Given the description of an element on the screen output the (x, y) to click on. 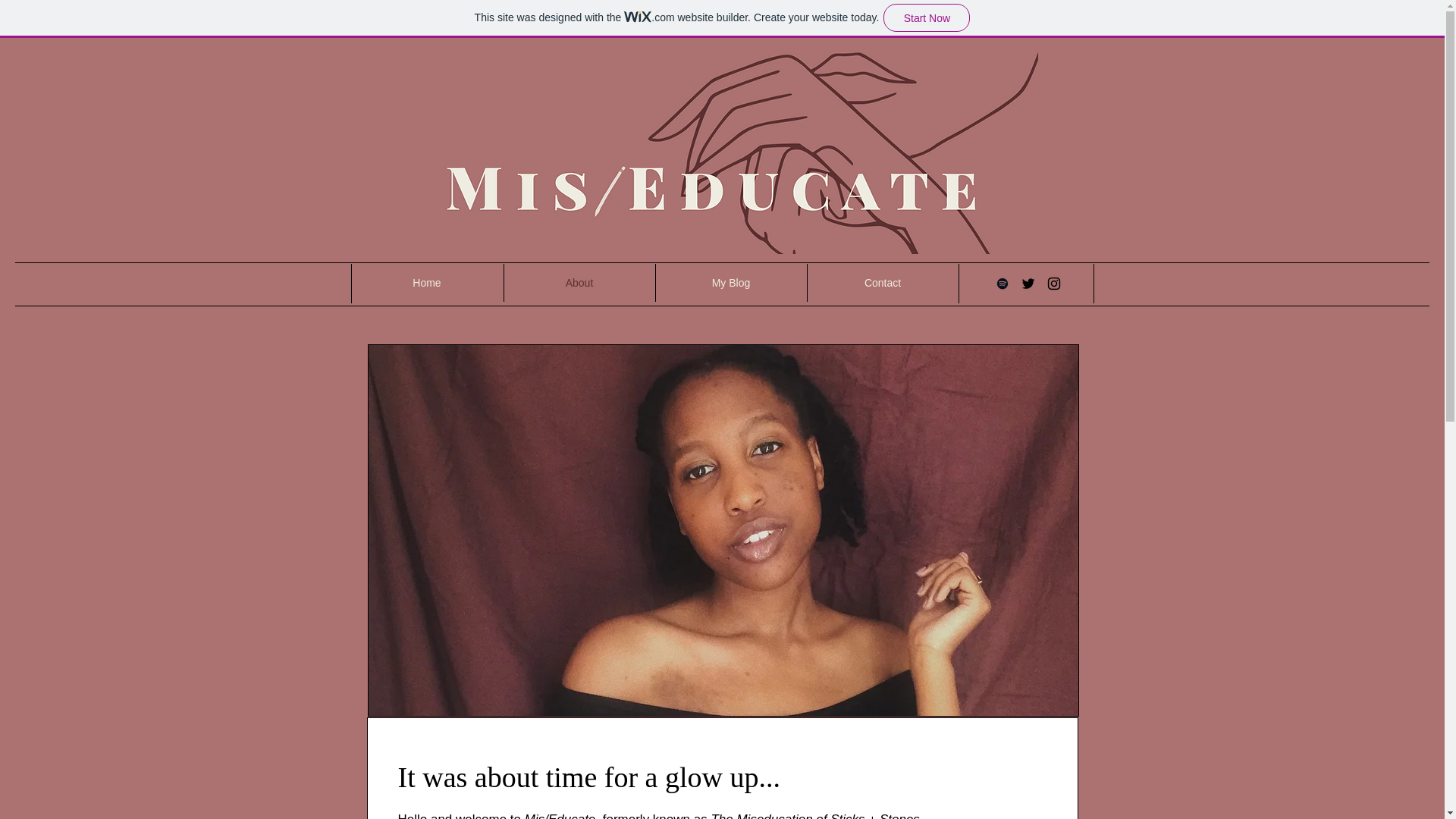
My Blog (730, 282)
About (579, 282)
Contact (882, 282)
Home (426, 282)
